Given the description of an element on the screen output the (x, y) to click on. 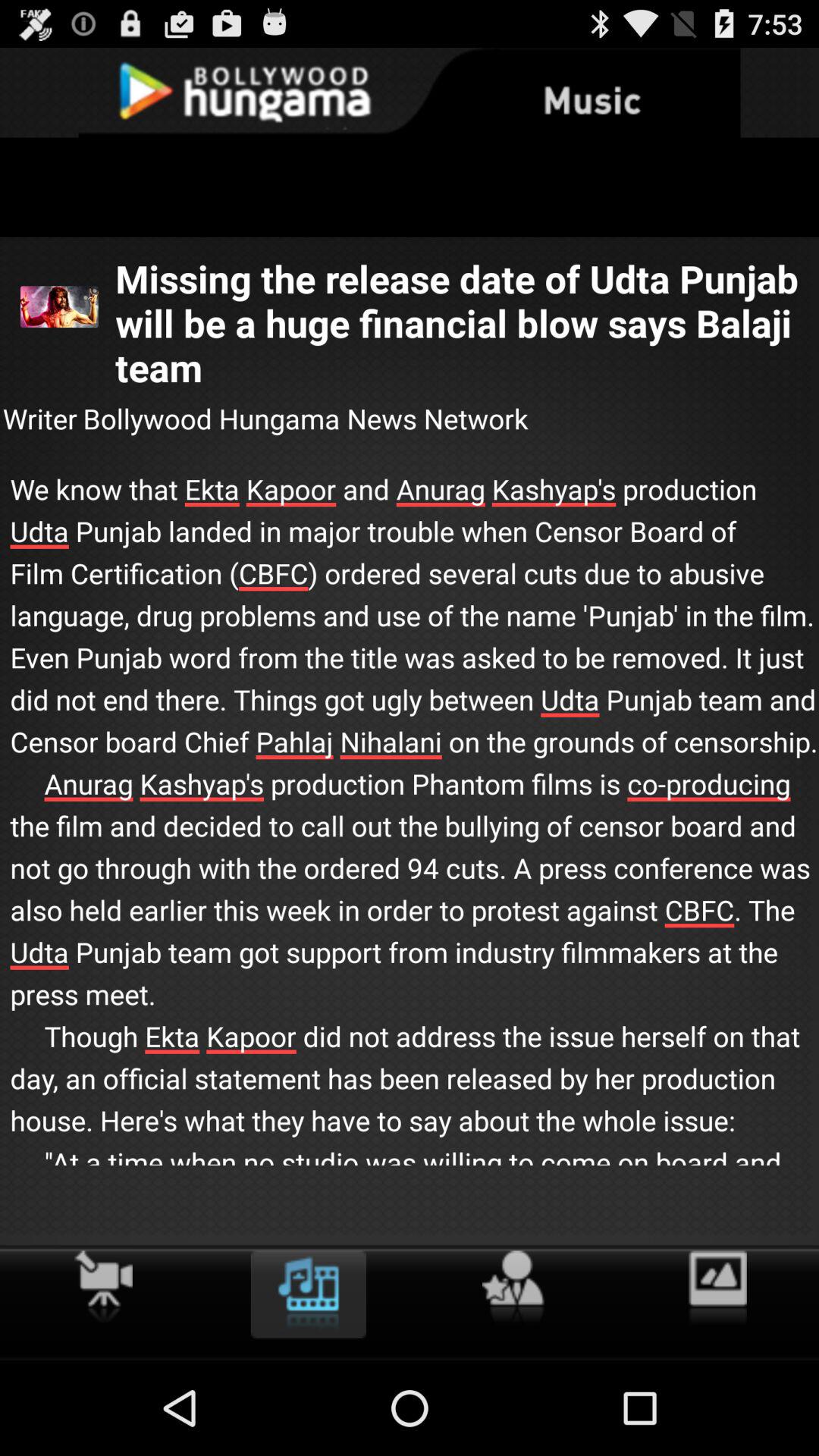
tap the we know that at the center (409, 842)
